Given the description of an element on the screen output the (x, y) to click on. 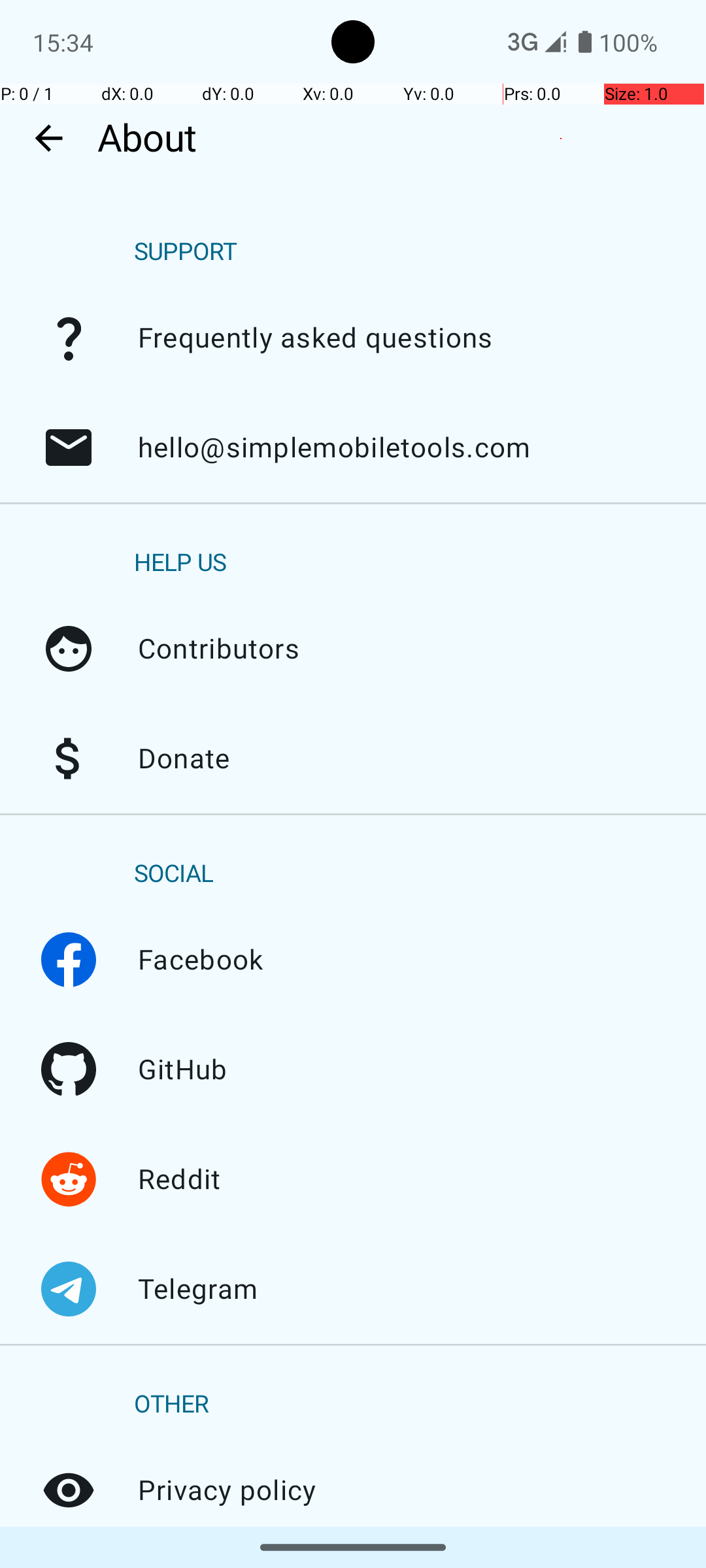
SUPPORT Element type: android.widget.TextView (185, 251)
HELP US Element type: android.widget.TextView (180, 562)
SOCIAL Element type: android.widget.TextView (173, 873)
OTHER Element type: android.widget.TextView (171, 1404)
Frequently asked questions Element type: android.view.View (68, 337)
hello@simplemobiletools.com Element type: android.view.View (68, 447)
Donate Element type: android.view.View (68, 758)
GitHub Element type: android.view.View (68, 1069)
Reddit Element type: android.view.View (68, 1178)
Telegram Element type: android.view.View (68, 1288)
Privacy policy Element type: android.view.View (68, 1489)
